Given the description of an element on the screen output the (x, y) to click on. 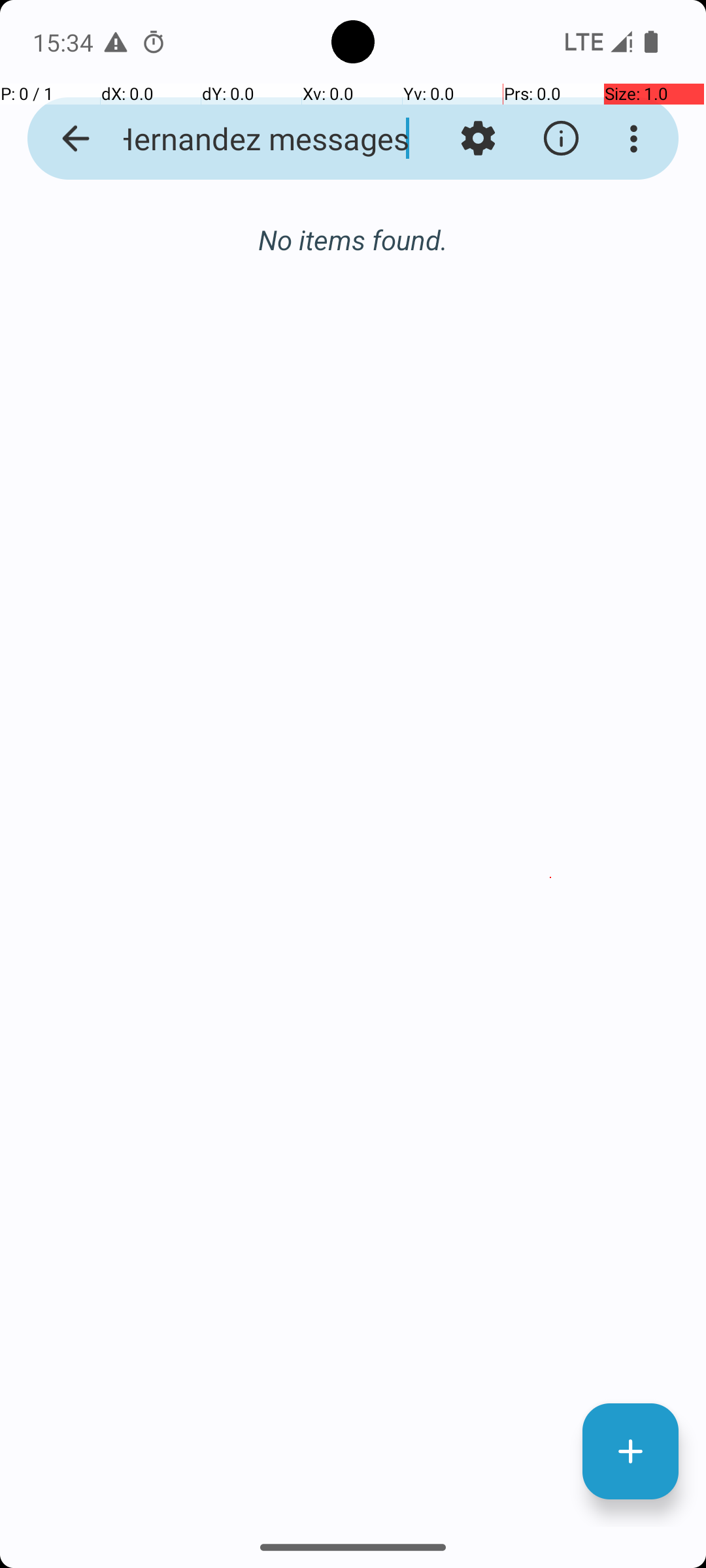
Alice Hernandez messages Element type: android.widget.EditText (252, 138)
No stored conversations have been found Element type: android.widget.TextView (353, 246)
Start a conversation Element type: android.widget.TextView (352, 311)
